Given the description of an element on the screen output the (x, y) to click on. 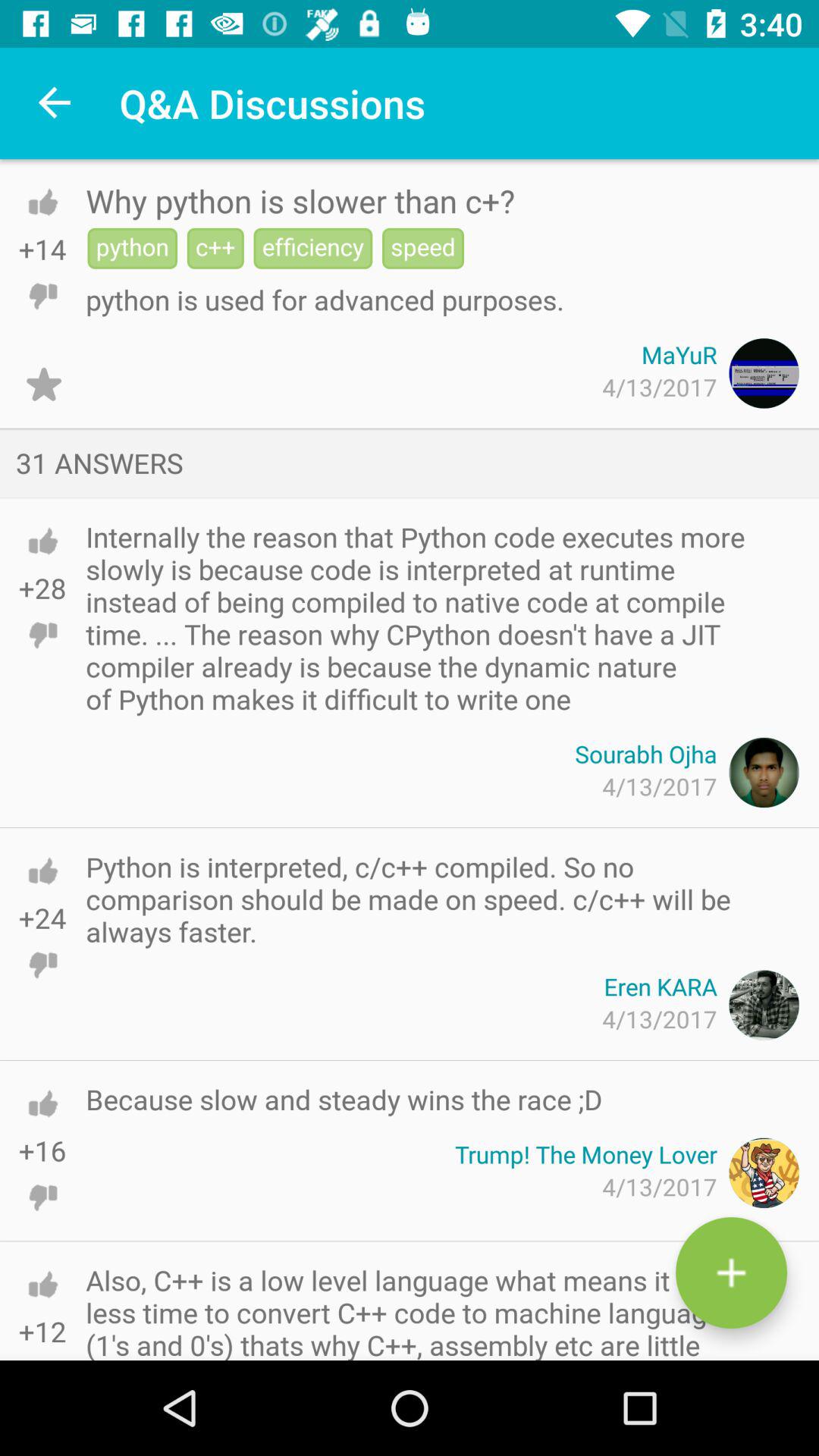
choose the internally the reason icon (424, 617)
